Given the description of an element on the screen output the (x, y) to click on. 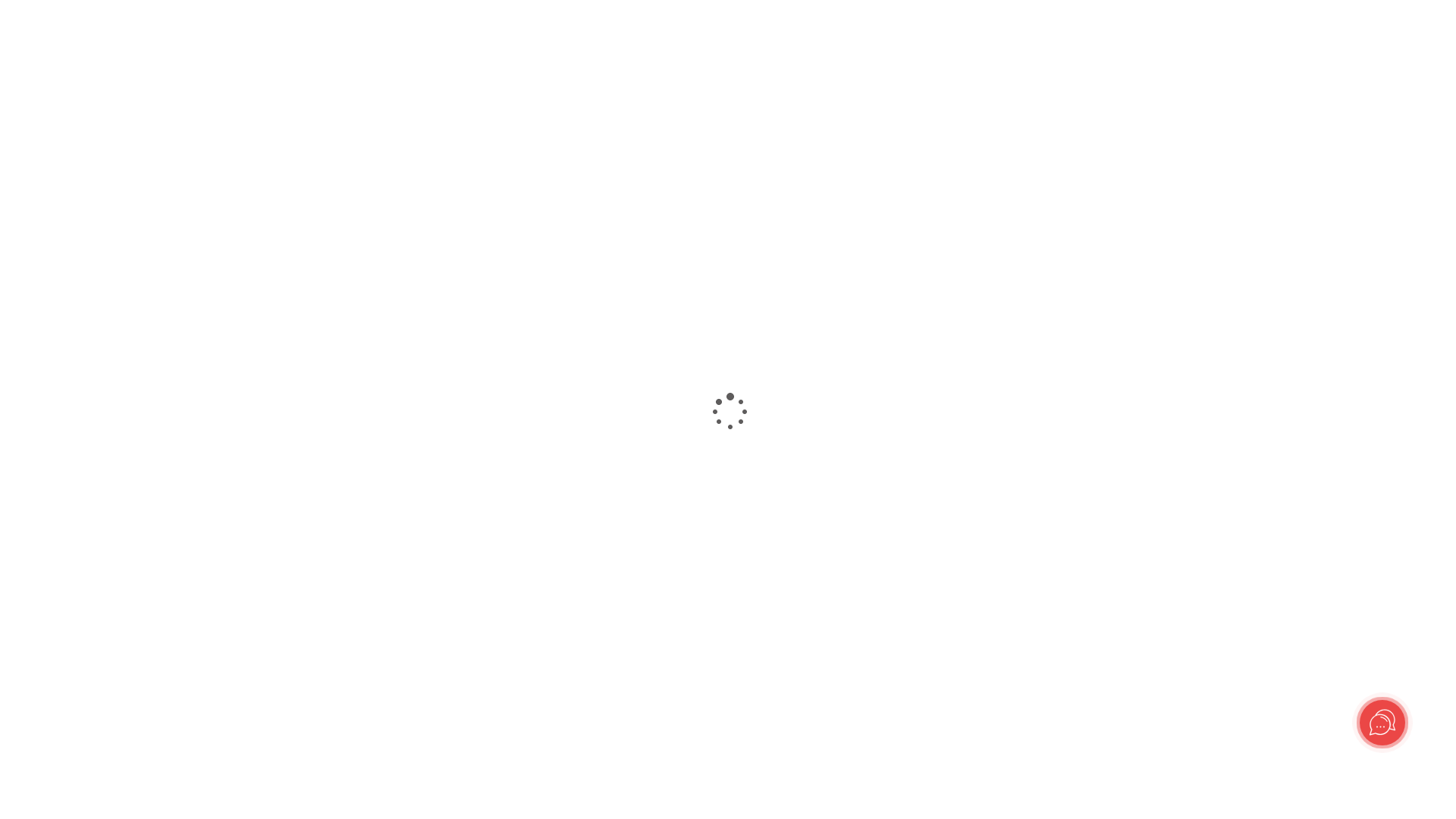
TOYOTA Element type: text (90, 709)
NISSAN Element type: text (88, 737)
INFINITI Element type: text (90, 750)
SUZUKI Element type: text (88, 777)
SUBARU Element type: text (91, 764)
LEXUS Element type: text (86, 723)
MITSUBISHI Element type: text (101, 791)
